Given the description of an element on the screen output the (x, y) to click on. 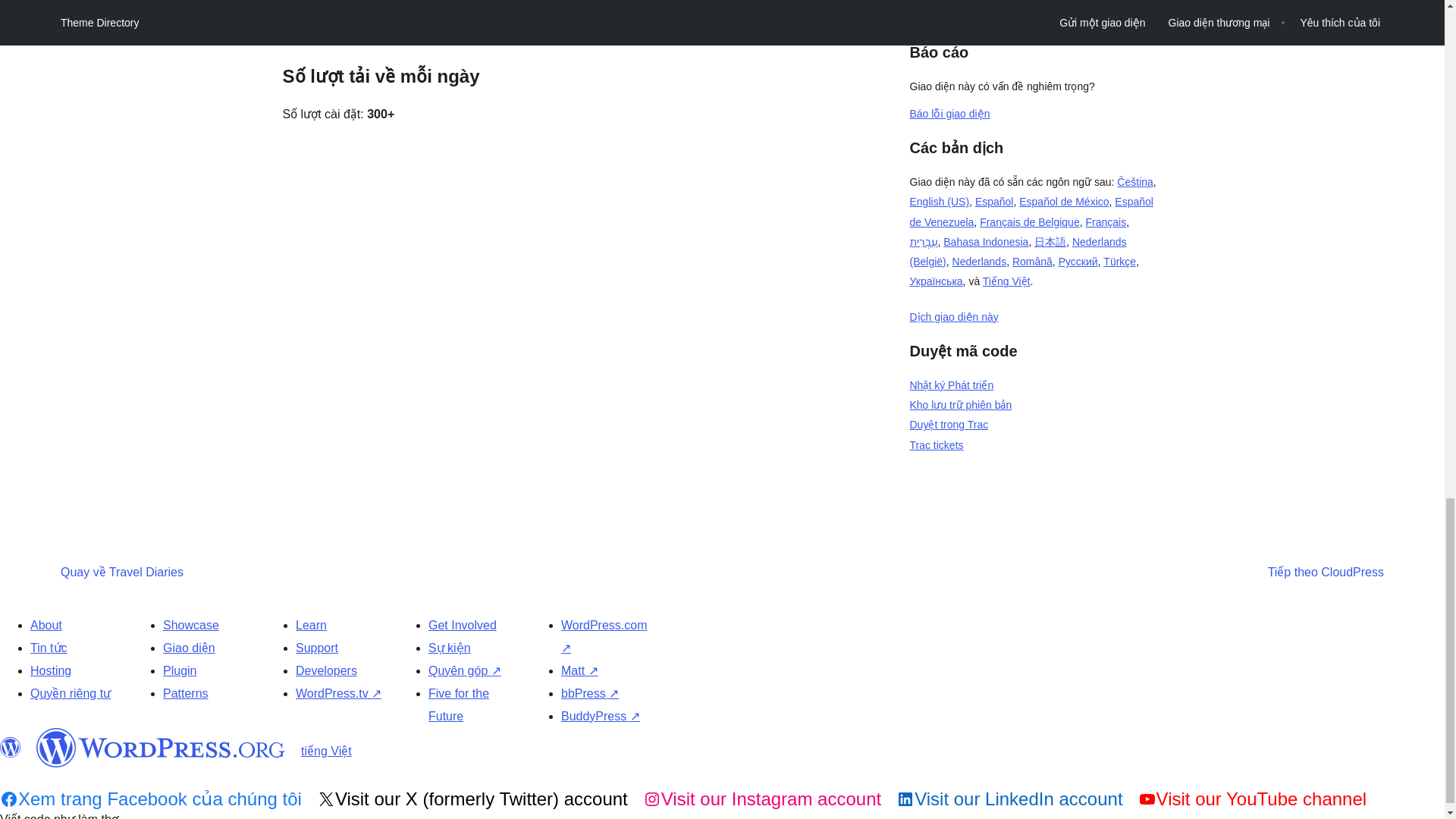
WordPress.org (10, 747)
WordPress.org (160, 747)
